Given the description of an element on the screen output the (x, y) to click on. 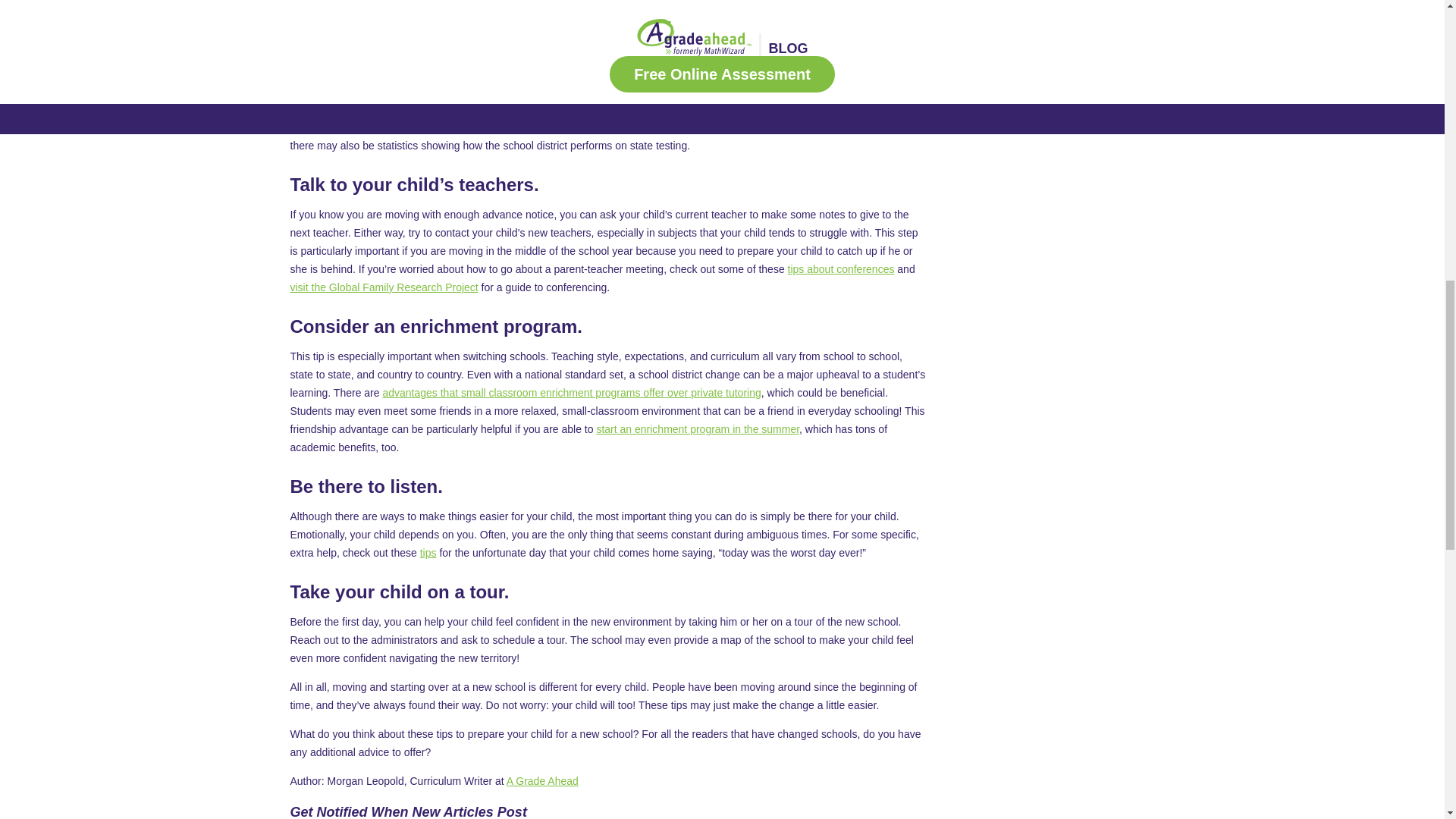
a list of fun extracurricular activities (603, 4)
tips about conferences (841, 268)
Video (982, 28)
tips (428, 552)
A Grade Ahead (542, 780)
Stories (986, 4)
start an enrichment program in the summer (697, 428)
visit the Global Family Research Project (383, 287)
